Given the description of an element on the screen output the (x, y) to click on. 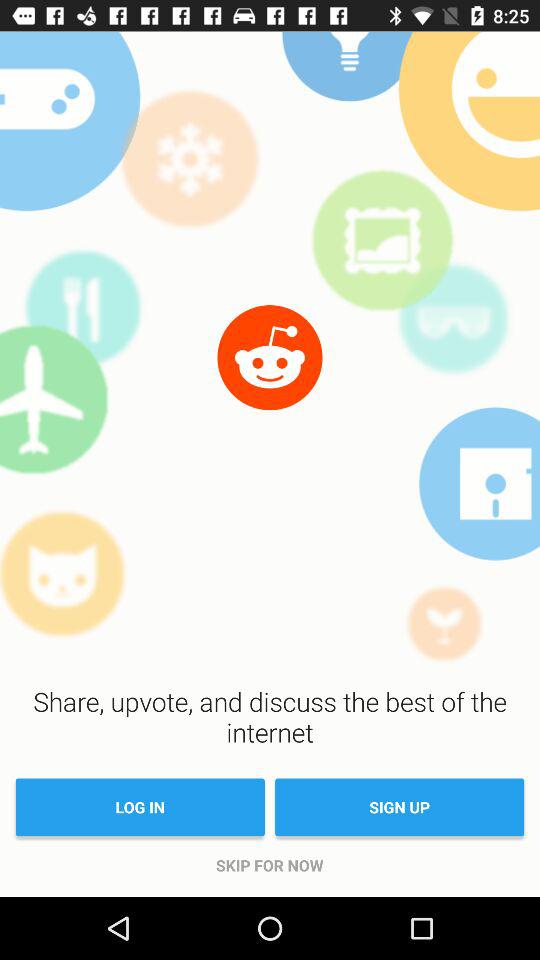
click icon at the bottom left corner (140, 807)
